Given the description of an element on the screen output the (x, y) to click on. 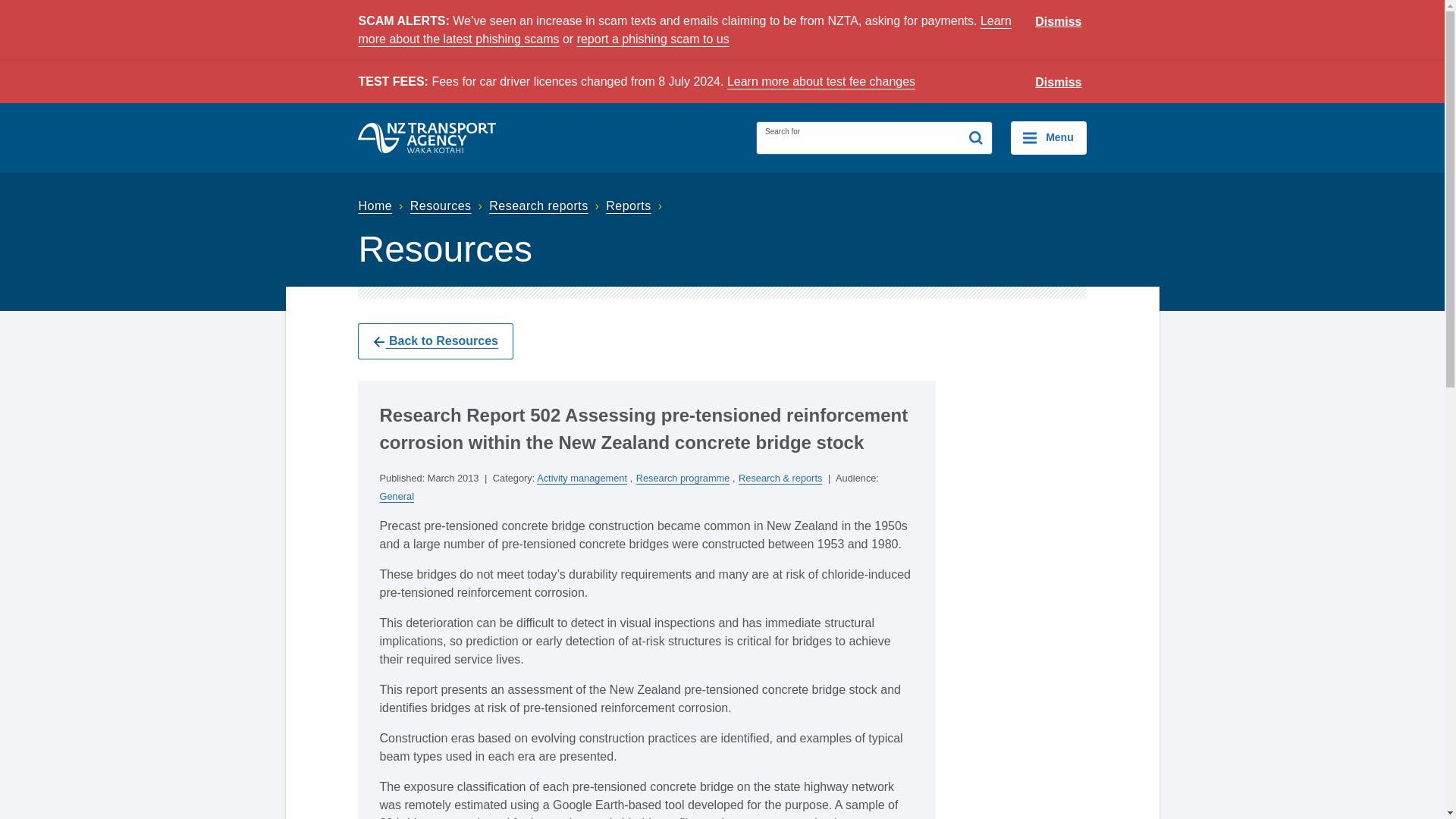
Dismiss (1058, 82)
Dismiss (1058, 21)
Menu (1048, 137)
report a phishing scam to us (652, 38)
NZ Transport Agency Waka Kotahi (427, 137)
Learn more about test fee changes (820, 81)
Home (382, 205)
Learn more about the latest phishing scams (684, 29)
